Given the description of an element on the screen output the (x, y) to click on. 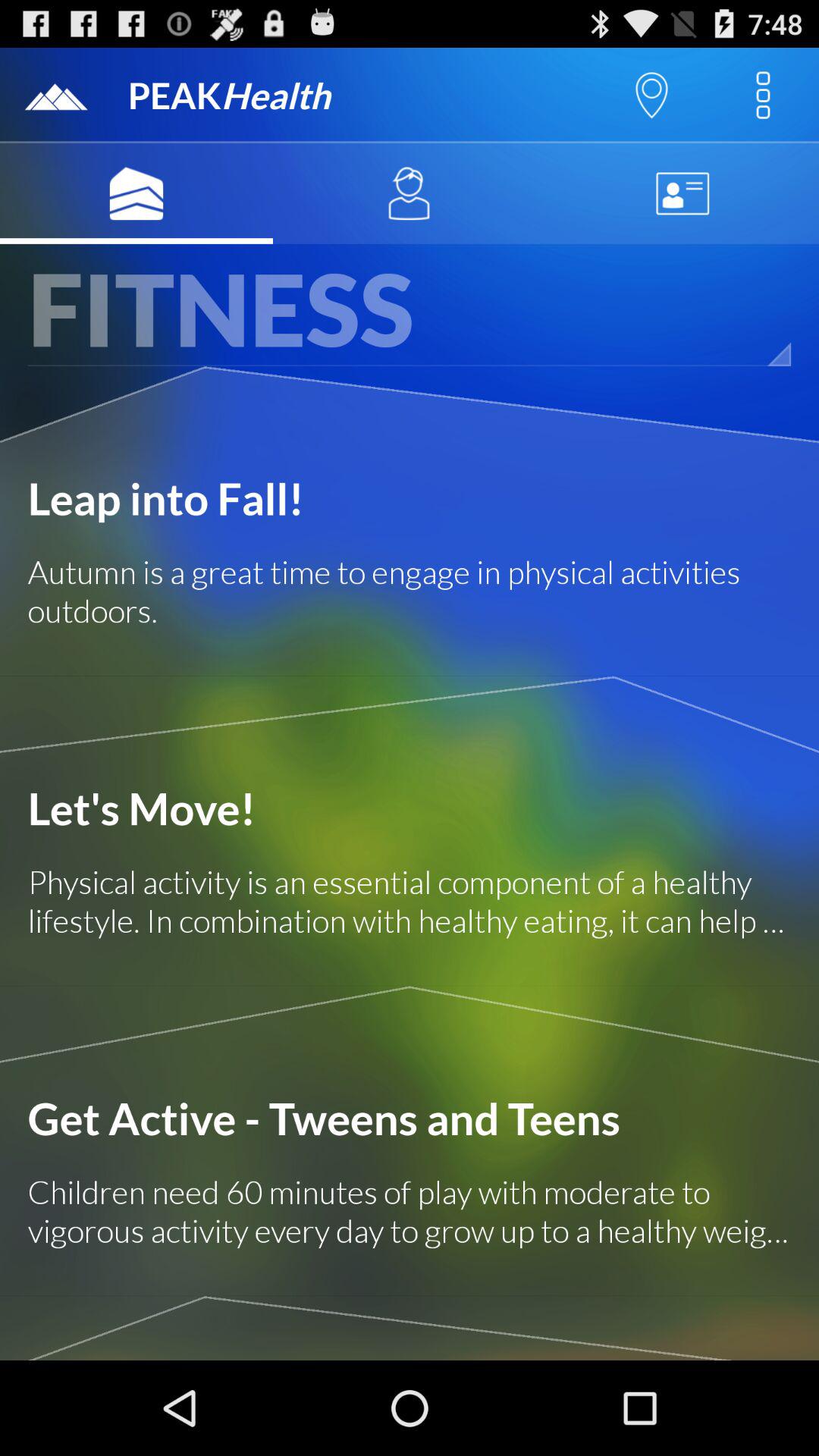
contest (682, 193)
